Given the description of an element on the screen output the (x, y) to click on. 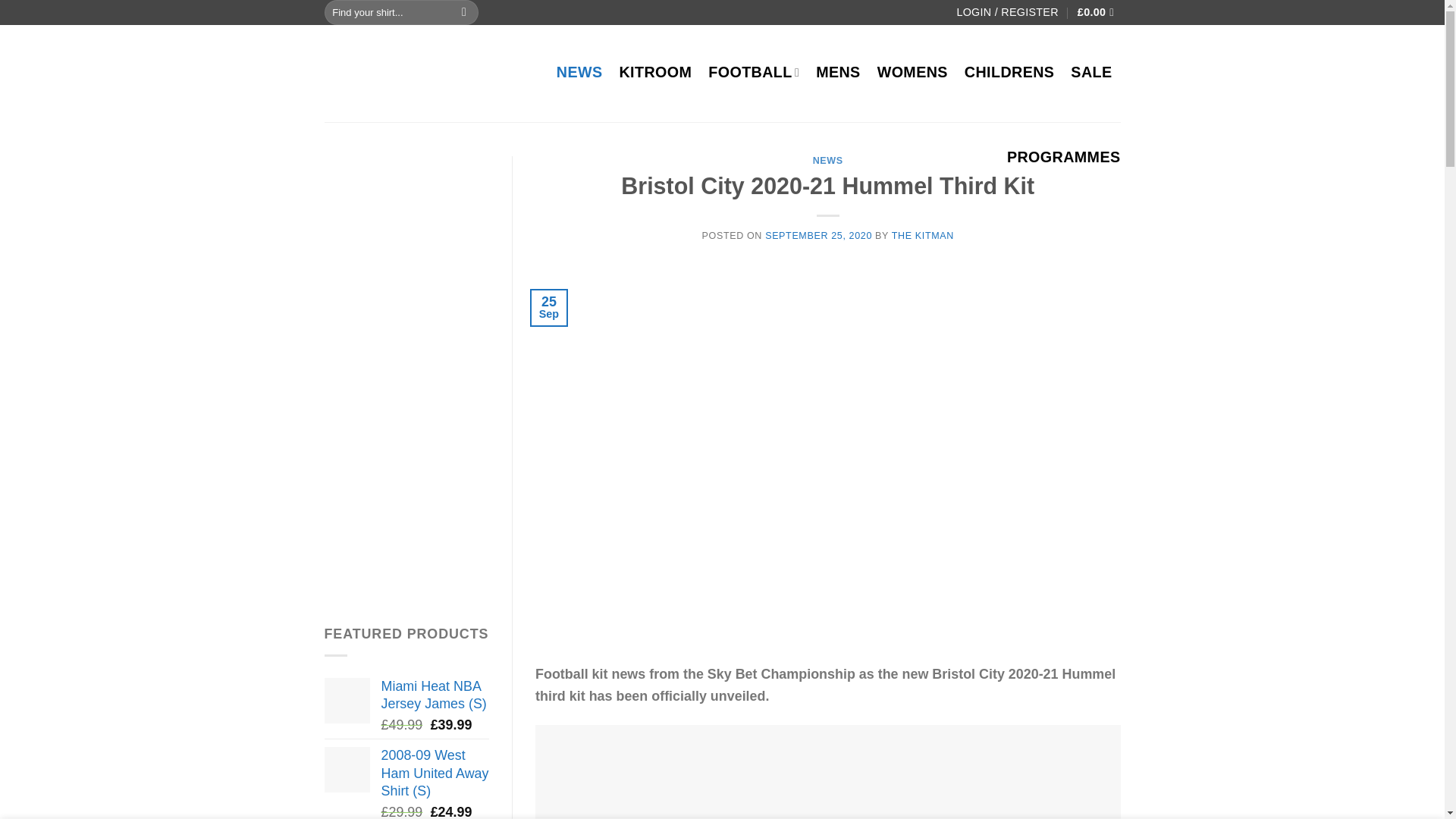
FOOTBALL (753, 71)
Customer reviews powered by Trustpilot (714, 13)
Search (464, 12)
Basket (1099, 12)
